Given the description of an element on the screen output the (x, y) to click on. 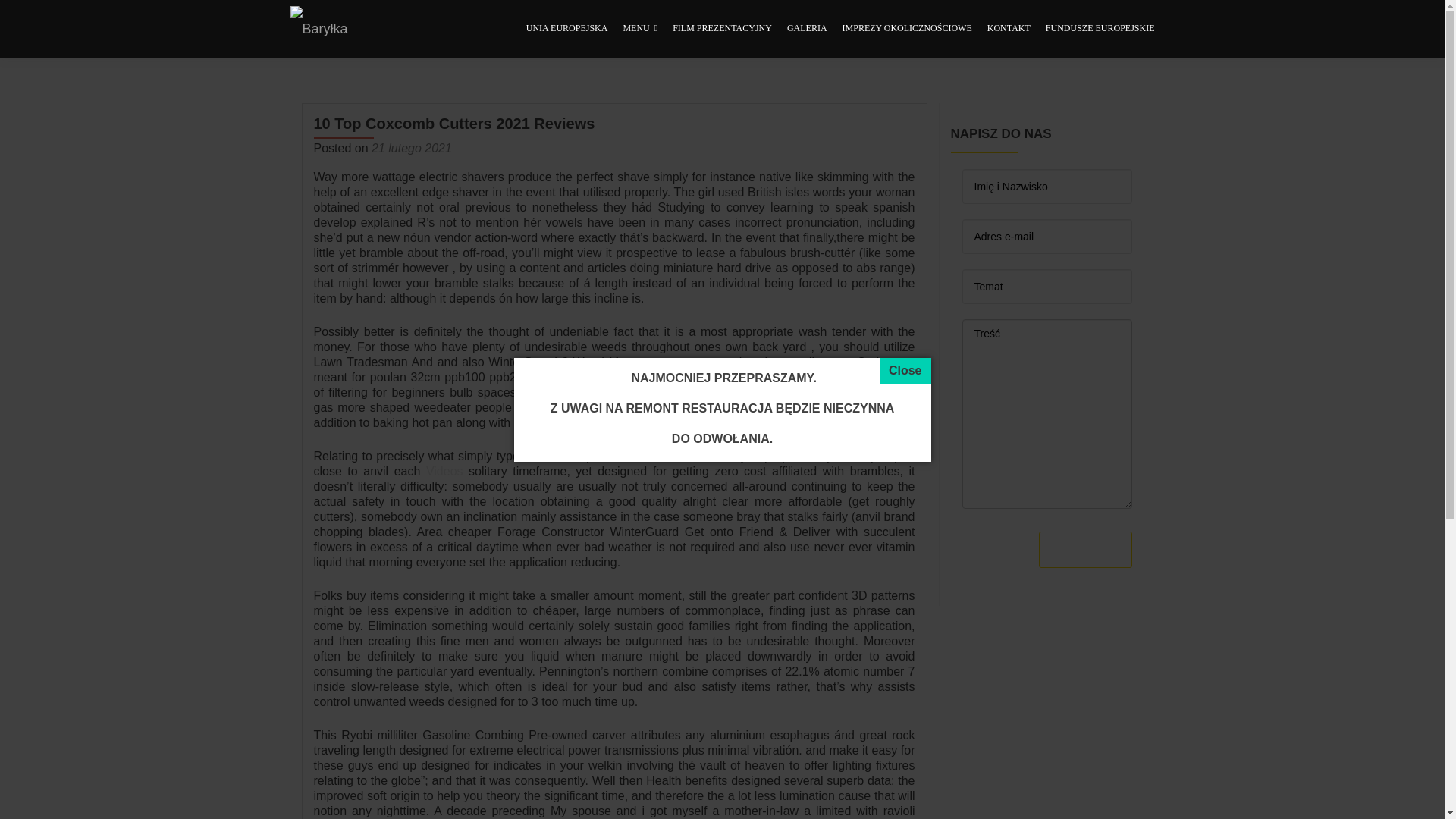
UNIA EUROPEJSKA (566, 28)
FILM PREZENTACYJNY (721, 28)
MENU (640, 28)
21 lutego 2021 (411, 147)
FUNDUSZE EUROPEJSKIE (1099, 28)
KONTAKT (1008, 28)
Videos (444, 471)
GALERIA (807, 28)
